Given the description of an element on the screen output the (x, y) to click on. 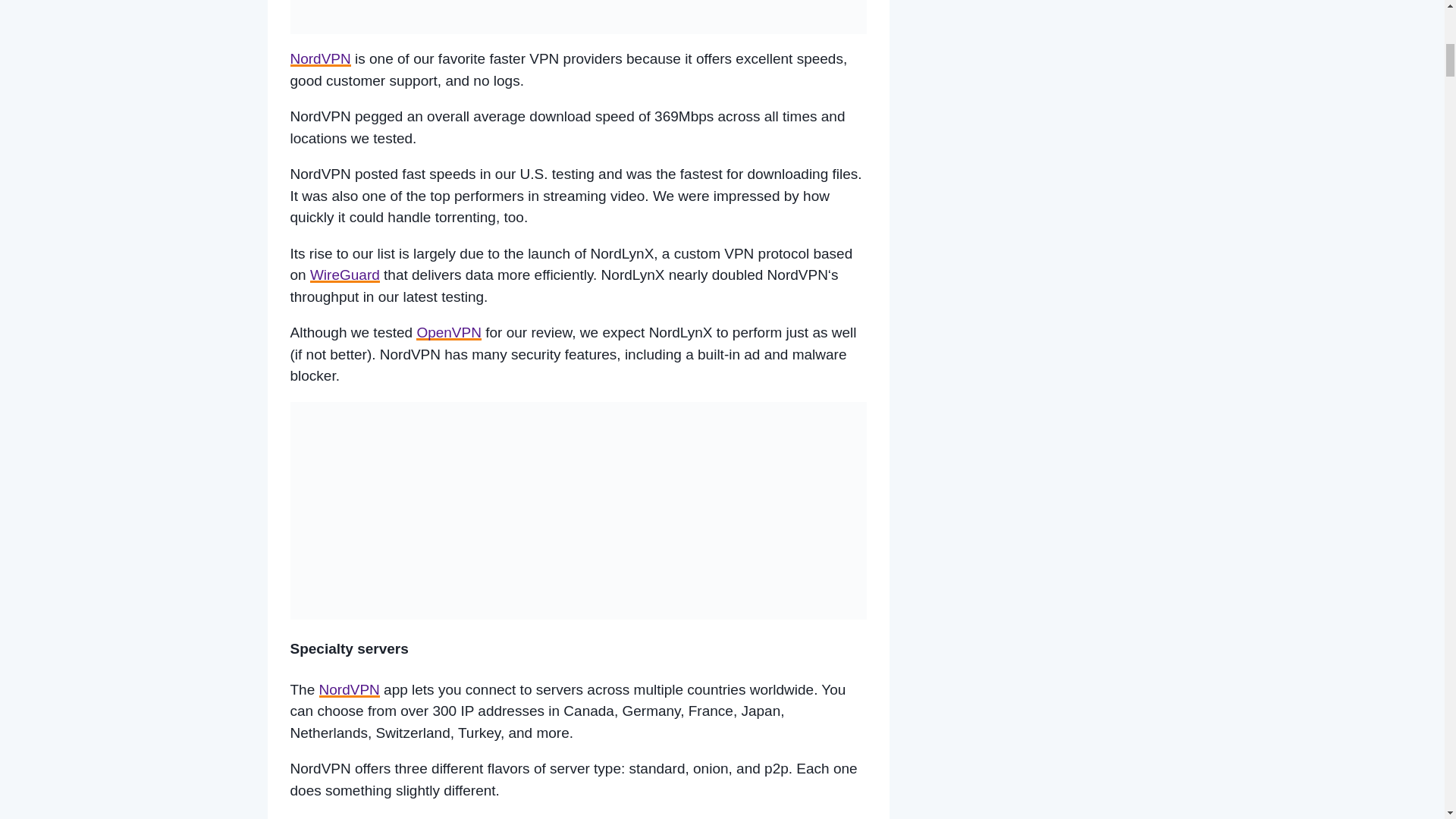
NordVPN (349, 689)
NordVPN speed test (577, 510)
NordVPN as fastestVPN (577, 17)
OpenVPN (448, 332)
WireGuard (345, 274)
NordVPN (319, 58)
